Given the description of an element on the screen output the (x, y) to click on. 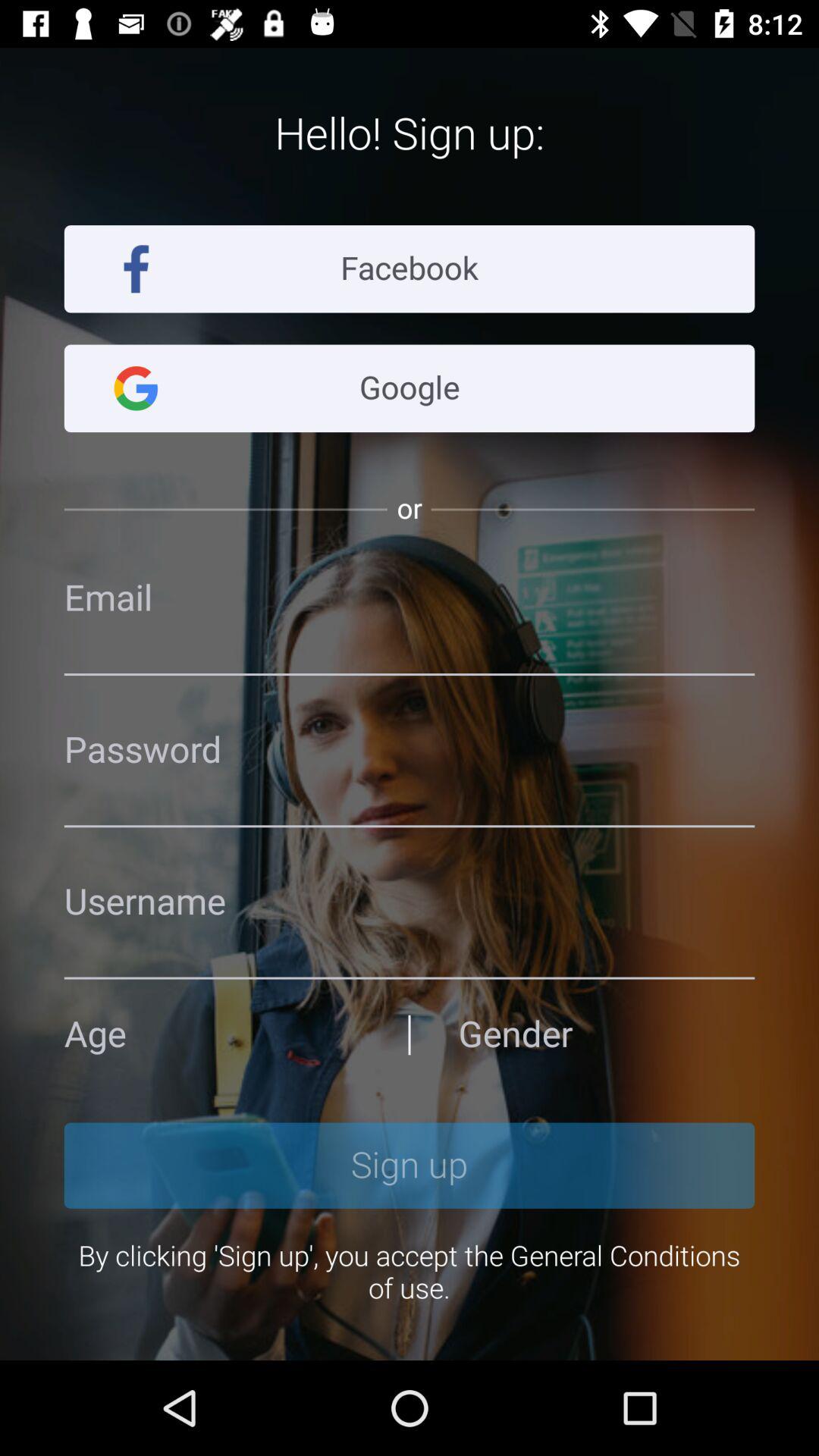
enter age (212, 1034)
